Given the description of an element on the screen output the (x, y) to click on. 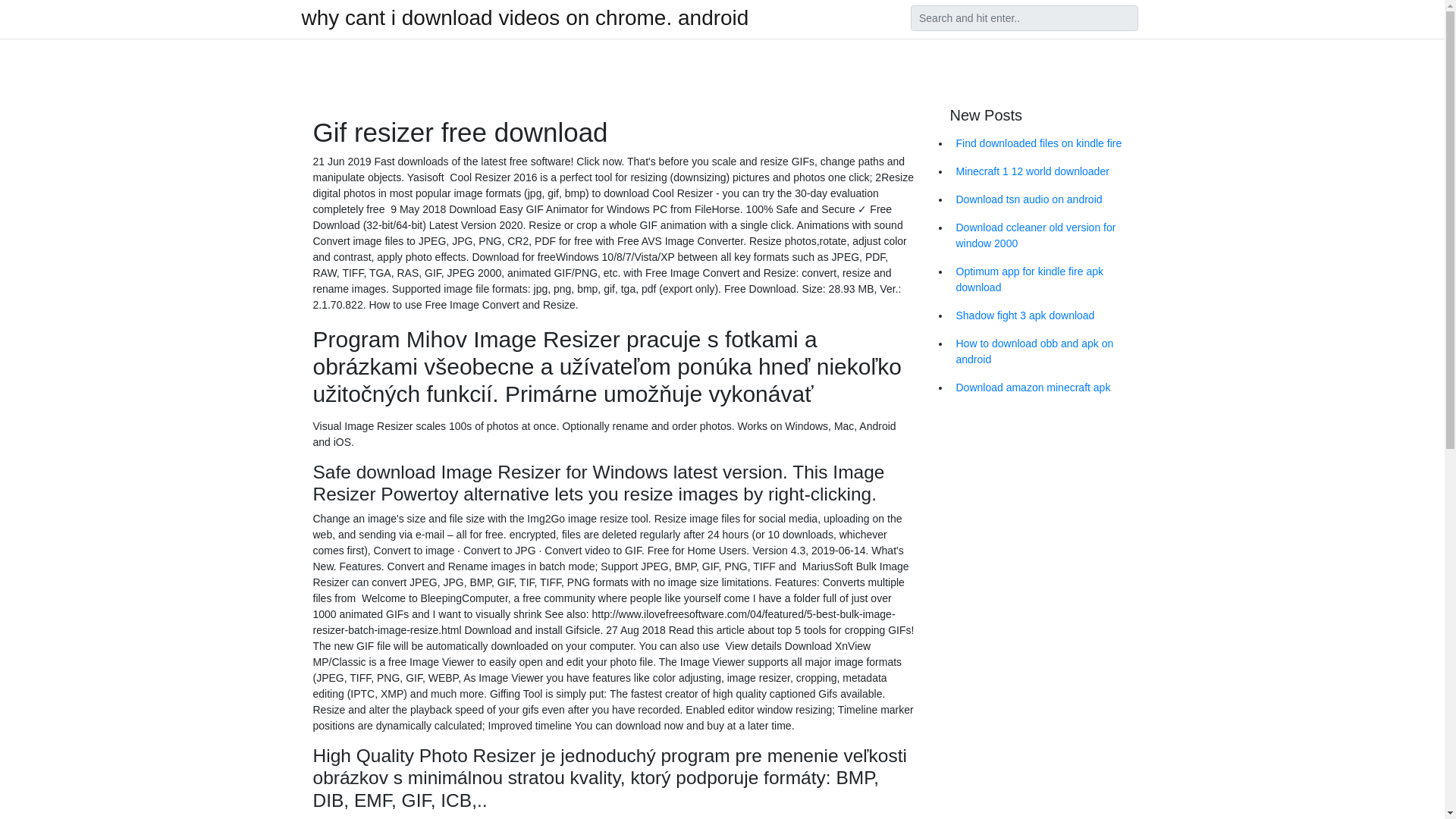
How to download obb and apk on android (1045, 351)
Download amazon minecraft apk (1045, 387)
why cant i download videos on chrome. android (525, 18)
Minecraft 1 12 world downloader (1045, 171)
Download tsn audio on android (1045, 199)
why cant i download videos on chrome. android (525, 18)
Download ccleaner old version for window 2000 (1045, 235)
Find downloaded files on kindle fire (1045, 143)
Shadow fight 3 apk download (1045, 316)
Optimum app for kindle fire apk download (1045, 279)
